Given the description of an element on the screen output the (x, y) to click on. 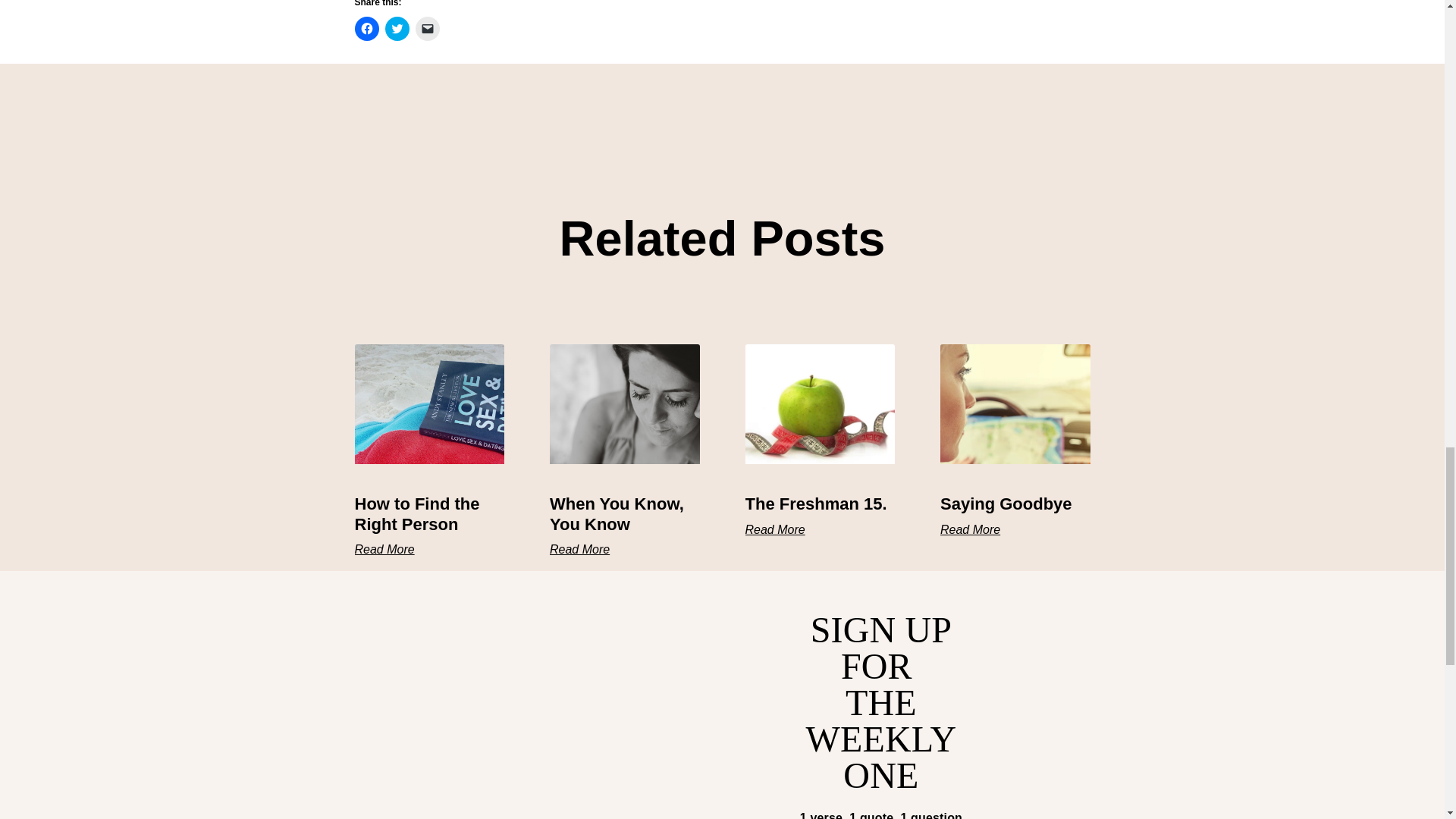
When You Know, You Know (617, 513)
The Freshman 15. (815, 503)
Read More (774, 530)
Read More (384, 549)
Read More (580, 549)
Click to share on Twitter (397, 28)
Click to email a link to a friend (426, 28)
Read More (970, 530)
Click to share on Facebook (366, 28)
Saying Goodbye (1005, 503)
How to Find the Right Person (417, 513)
